Given the description of an element on the screen output the (x, y) to click on. 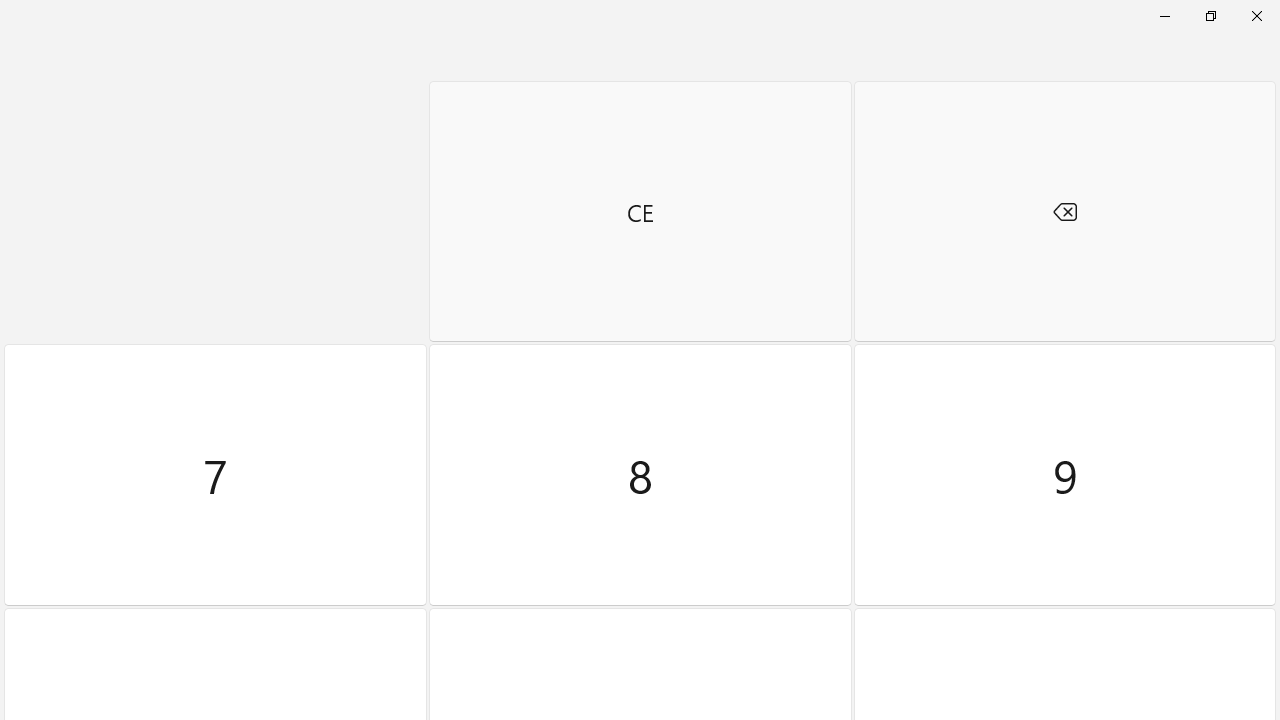
Minimize Calculator (1164, 15)
Backspace (1064, 211)
Nine (1064, 475)
Restore Calculator (1210, 15)
Seven (215, 475)
Close Calculator (1256, 15)
Eight (640, 475)
Clear entry (640, 211)
